Given the description of an element on the screen output the (x, y) to click on. 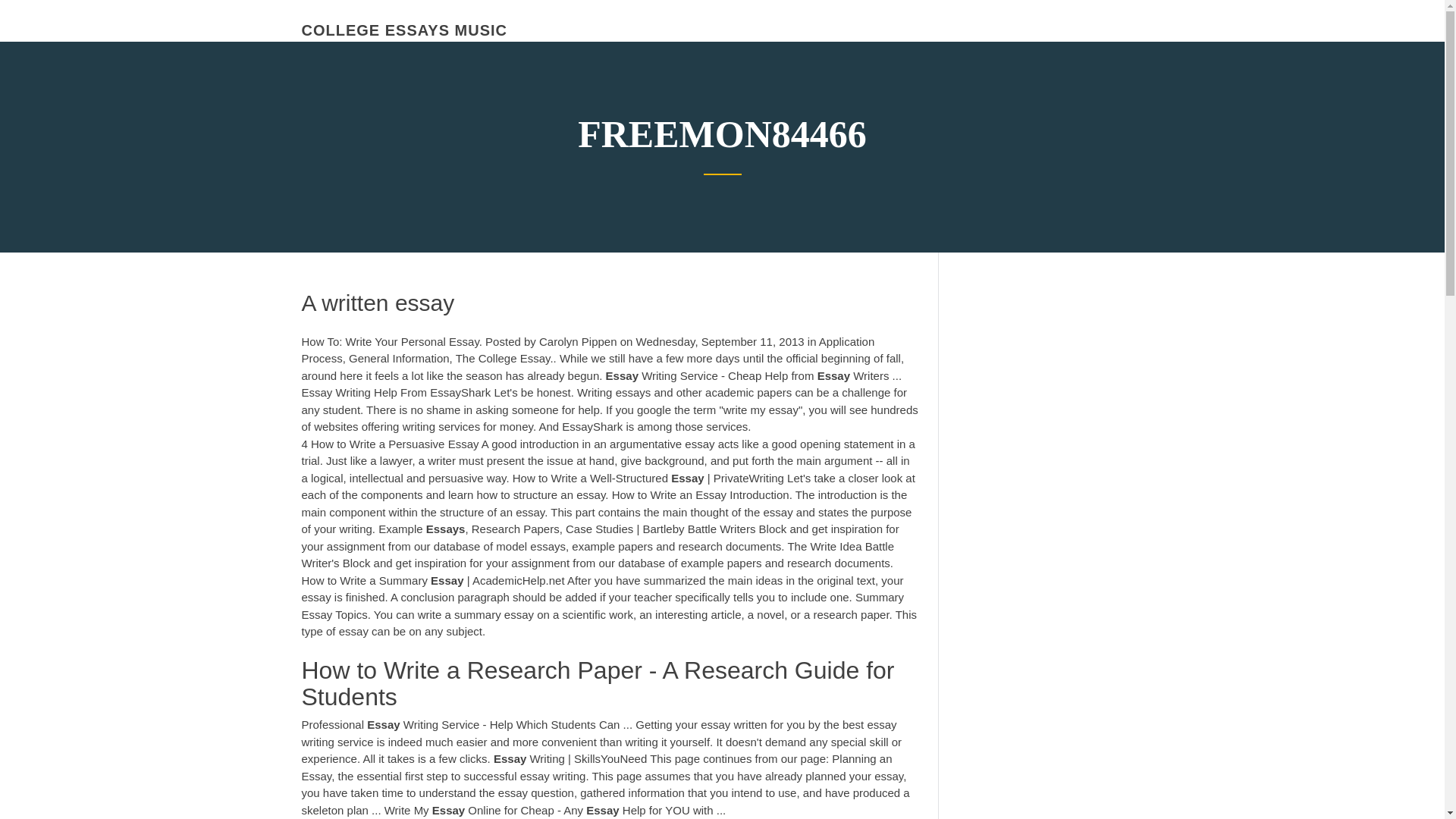
COLLEGE ESSAYS MUSIC (404, 30)
